Given the description of an element on the screen output the (x, y) to click on. 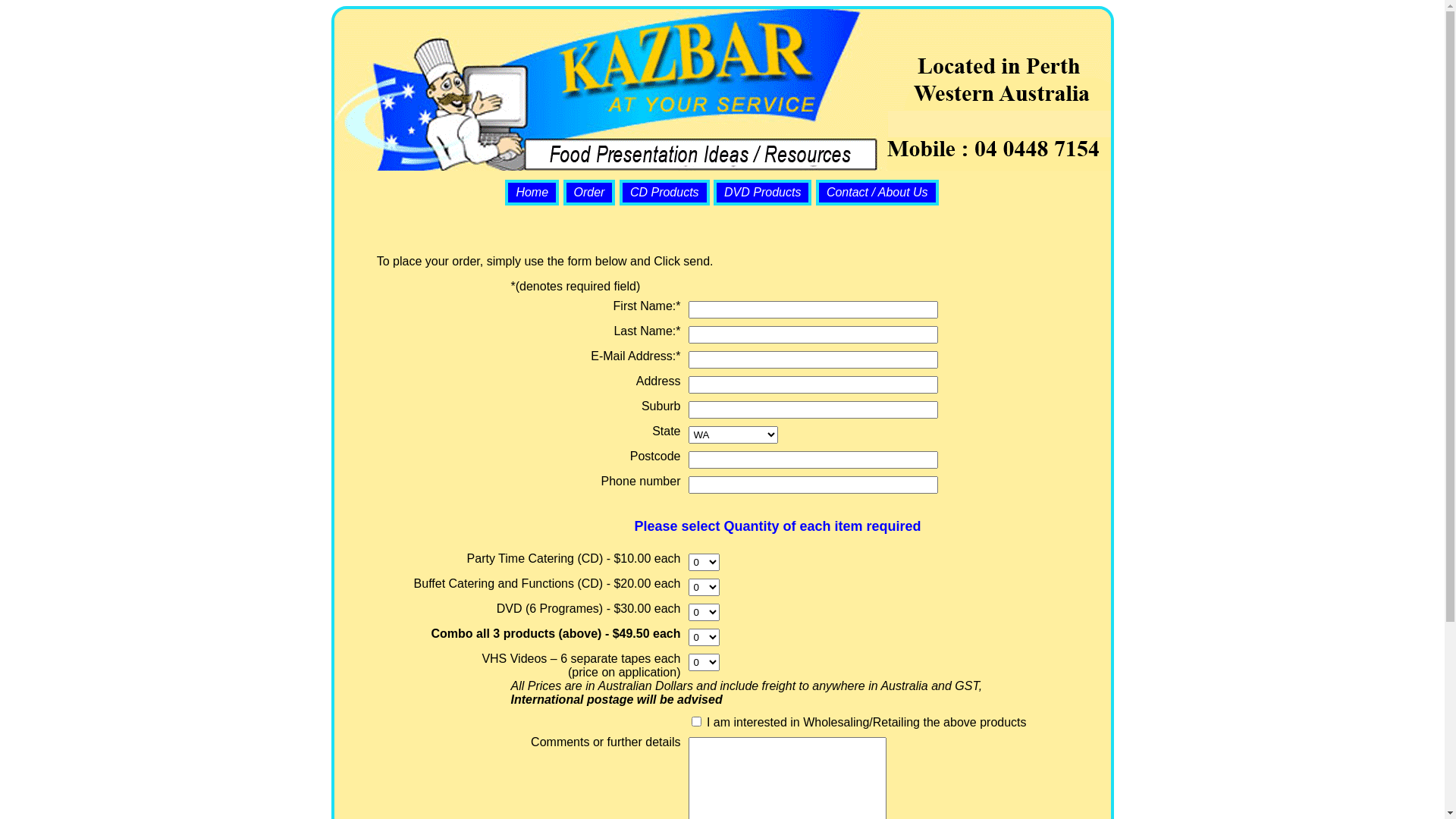
Order Element type: text (589, 191)
Home Element type: text (531, 191)
CD Products Element type: text (664, 191)
Contact / About Us Element type: text (877, 191)
DVD Products Element type: text (762, 191)
